Given the description of an element on the screen output the (x, y) to click on. 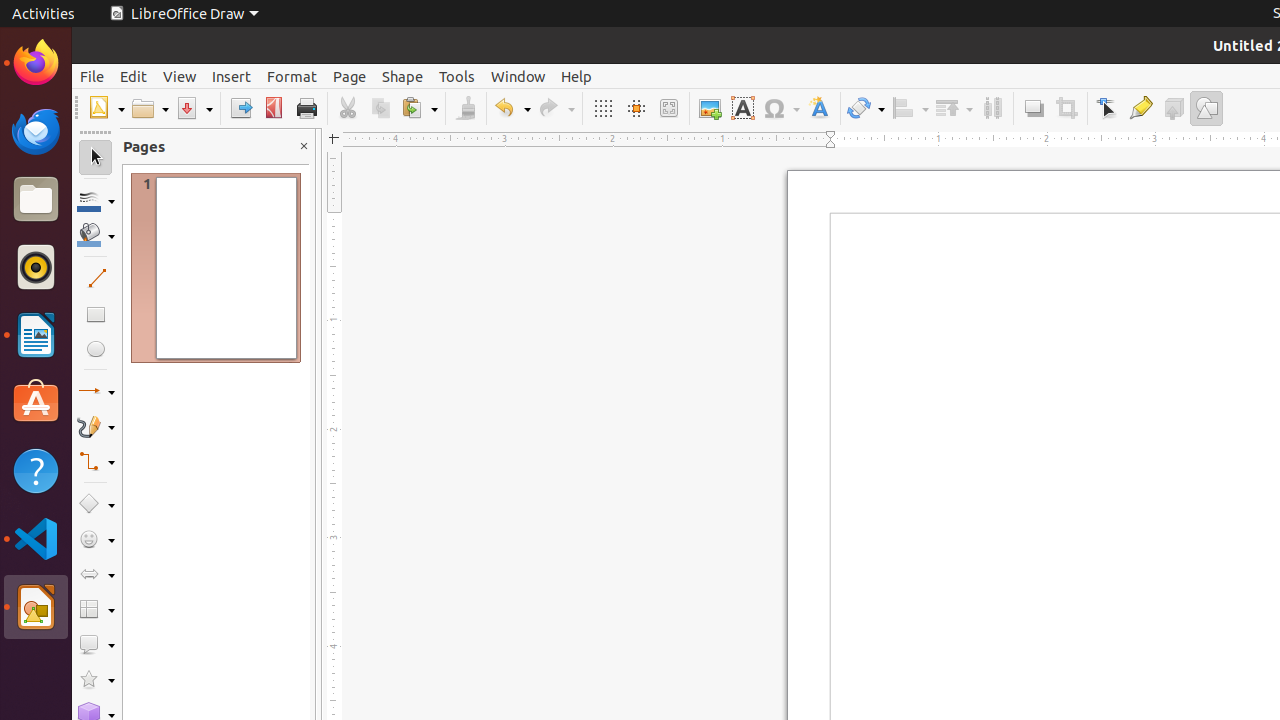
Flowchart Shapes Element type: push-button (96, 609)
Window Element type: menu (518, 76)
Tools Element type: menu (457, 76)
Rectangle Element type: push-button (95, 313)
